Given the description of an element on the screen output the (x, y) to click on. 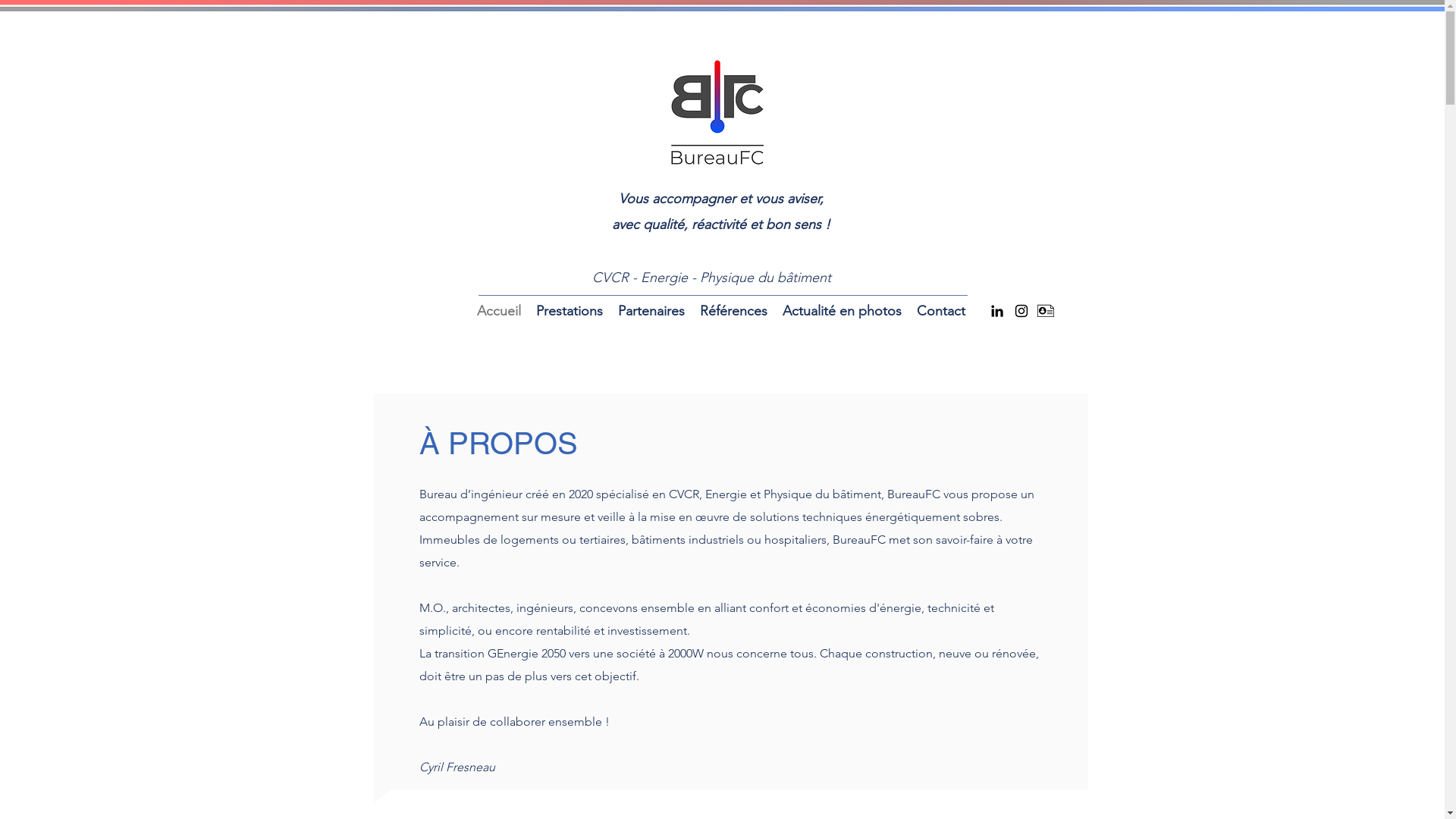
Partenaires Element type: text (650, 310)
Accueil Element type: text (497, 310)
Prestations Element type: text (568, 310)
Contact Element type: text (940, 310)
